Given the description of an element on the screen output the (x, y) to click on. 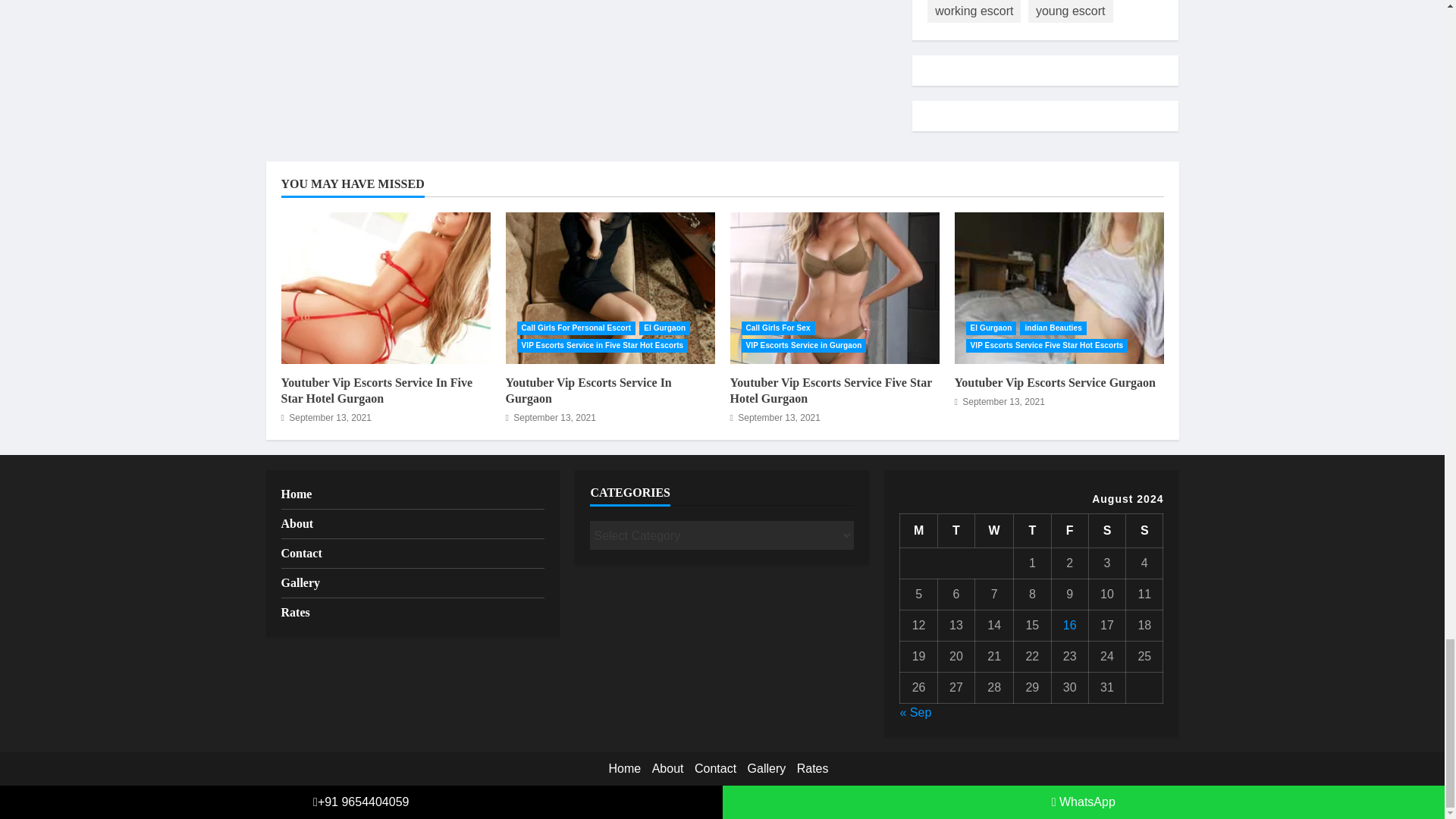
Friday (1069, 530)
Sunday (1144, 530)
Monday (918, 530)
Thursday (1032, 530)
Saturday (1106, 530)
Wednesday (994, 530)
Tuesday (955, 530)
